Given the description of an element on the screen output the (x, y) to click on. 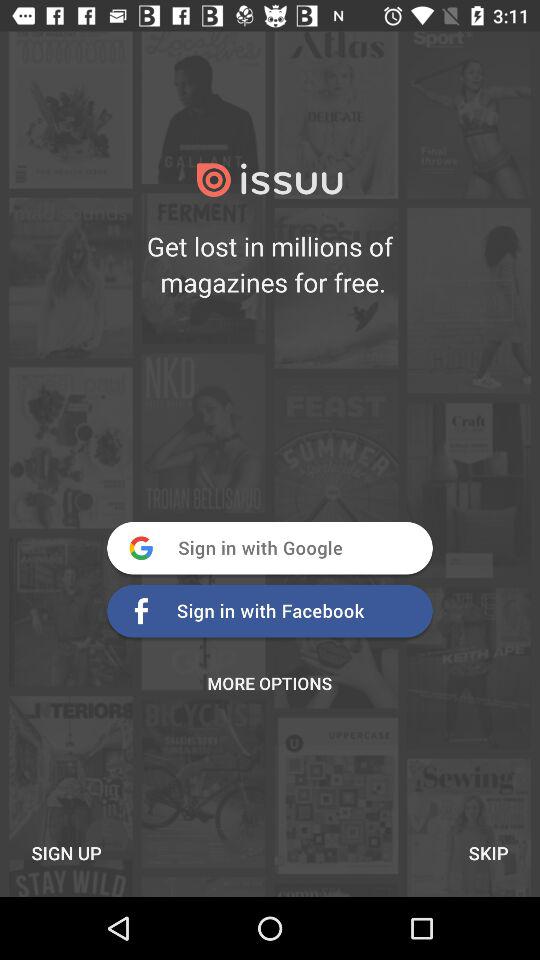
press sign up at the bottom left corner (66, 852)
